Given the description of an element on the screen output the (x, y) to click on. 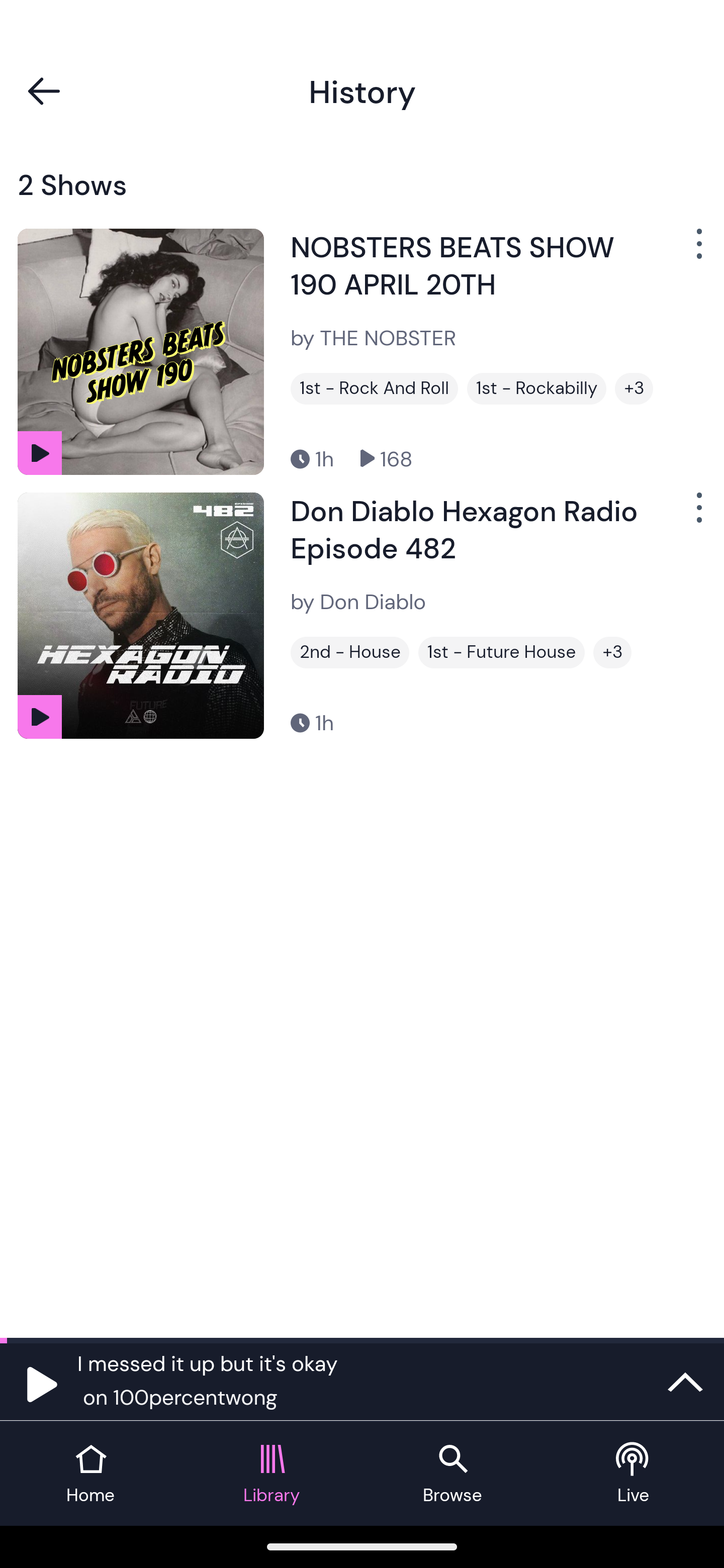
Show Options Menu Button (697, 251)
1st - Rock And Roll (374, 388)
1st - Rockabilly (536, 388)
Show Options Menu Button (697, 514)
2nd - House (349, 651)
1st - Future House (501, 651)
Home tab Home (90, 1473)
Library tab Library (271, 1473)
Browse tab Browse (452, 1473)
Live tab Live (633, 1473)
